Given the description of an element on the screen output the (x, y) to click on. 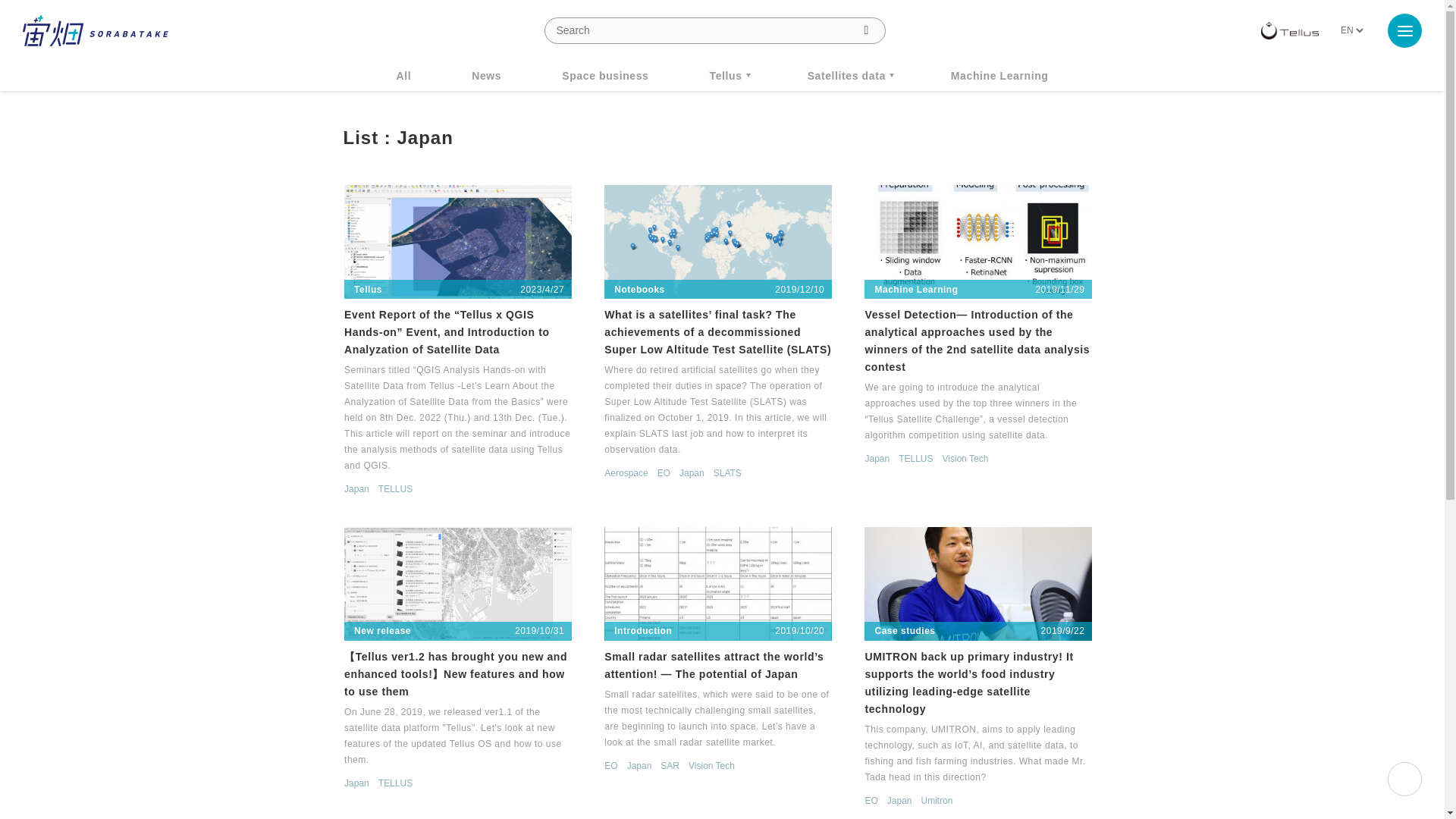
News (485, 75)
Tellus (728, 75)
Space business (604, 75)
Machine Learning (999, 75)
Satellites data (848, 75)
